Given the description of an element on the screen output the (x, y) to click on. 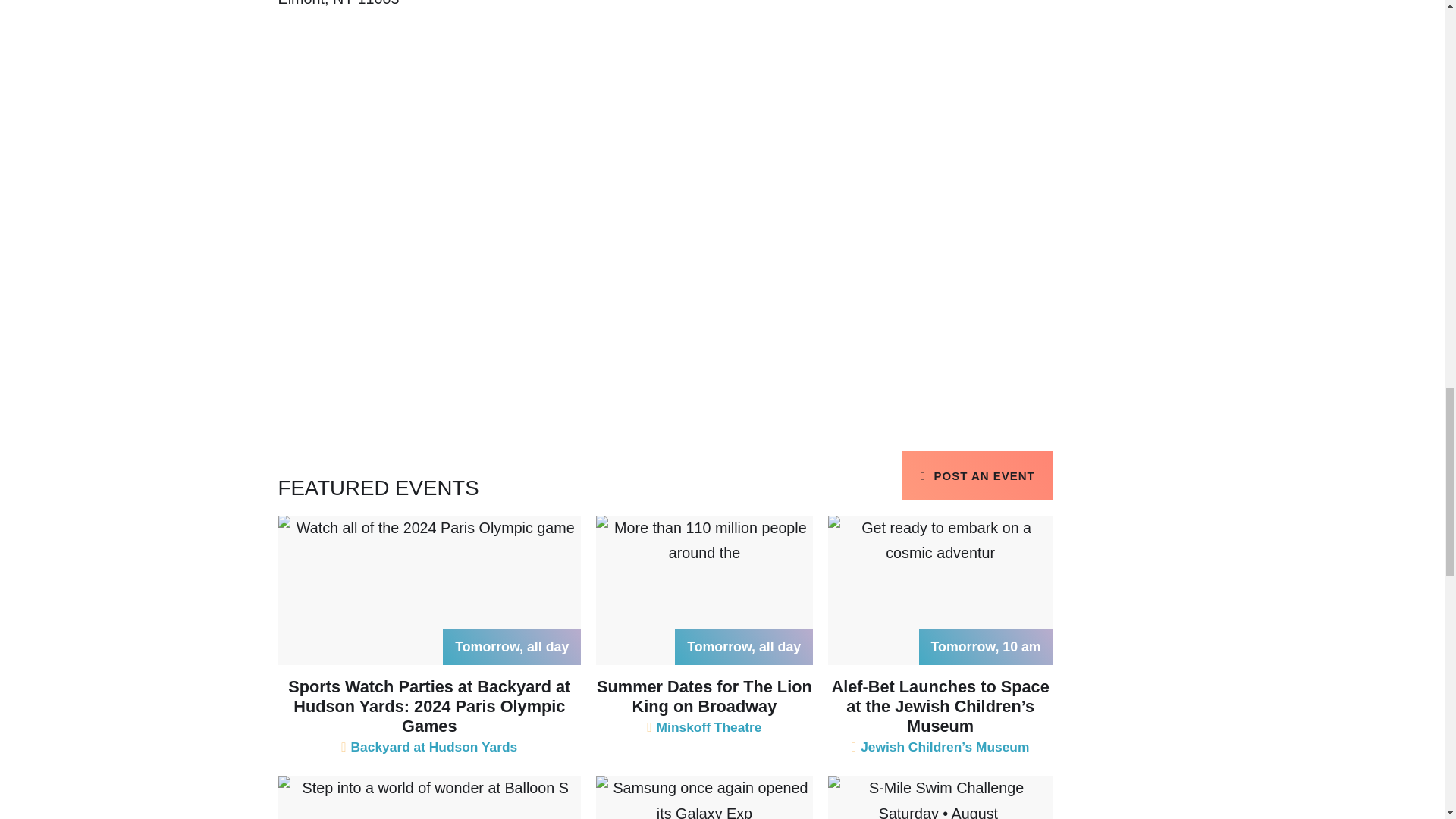
New York (343, 3)
